Given the description of an element on the screen output the (x, y) to click on. 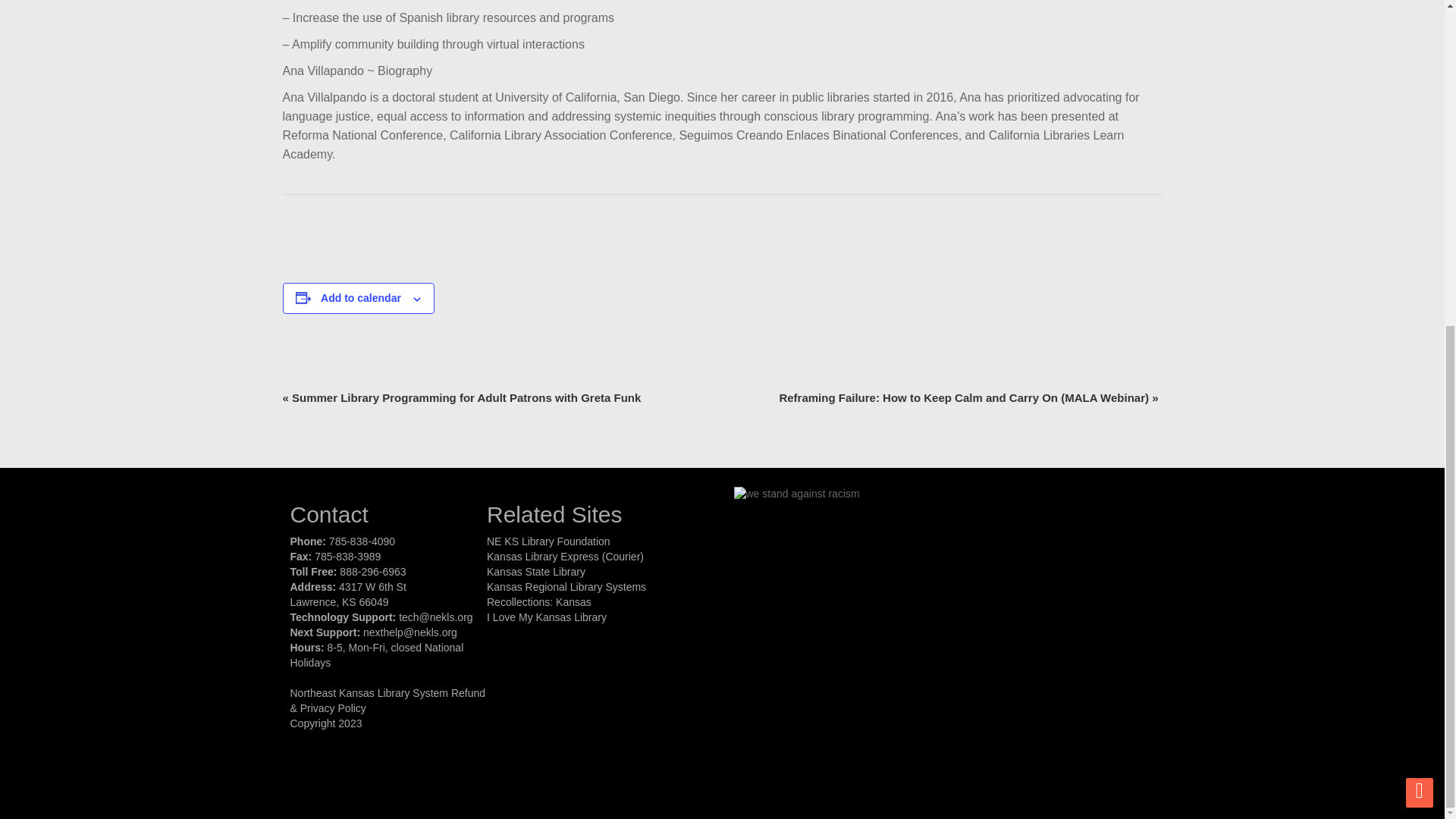
Add to calendar (360, 297)
Recollections: Kansas (538, 602)
Kansas State Library (535, 571)
NE KS Library Foundation (548, 541)
I Love My Kansas Library (546, 616)
Kansas Regional Library Systems (566, 586)
